Given the description of an element on the screen output the (x, y) to click on. 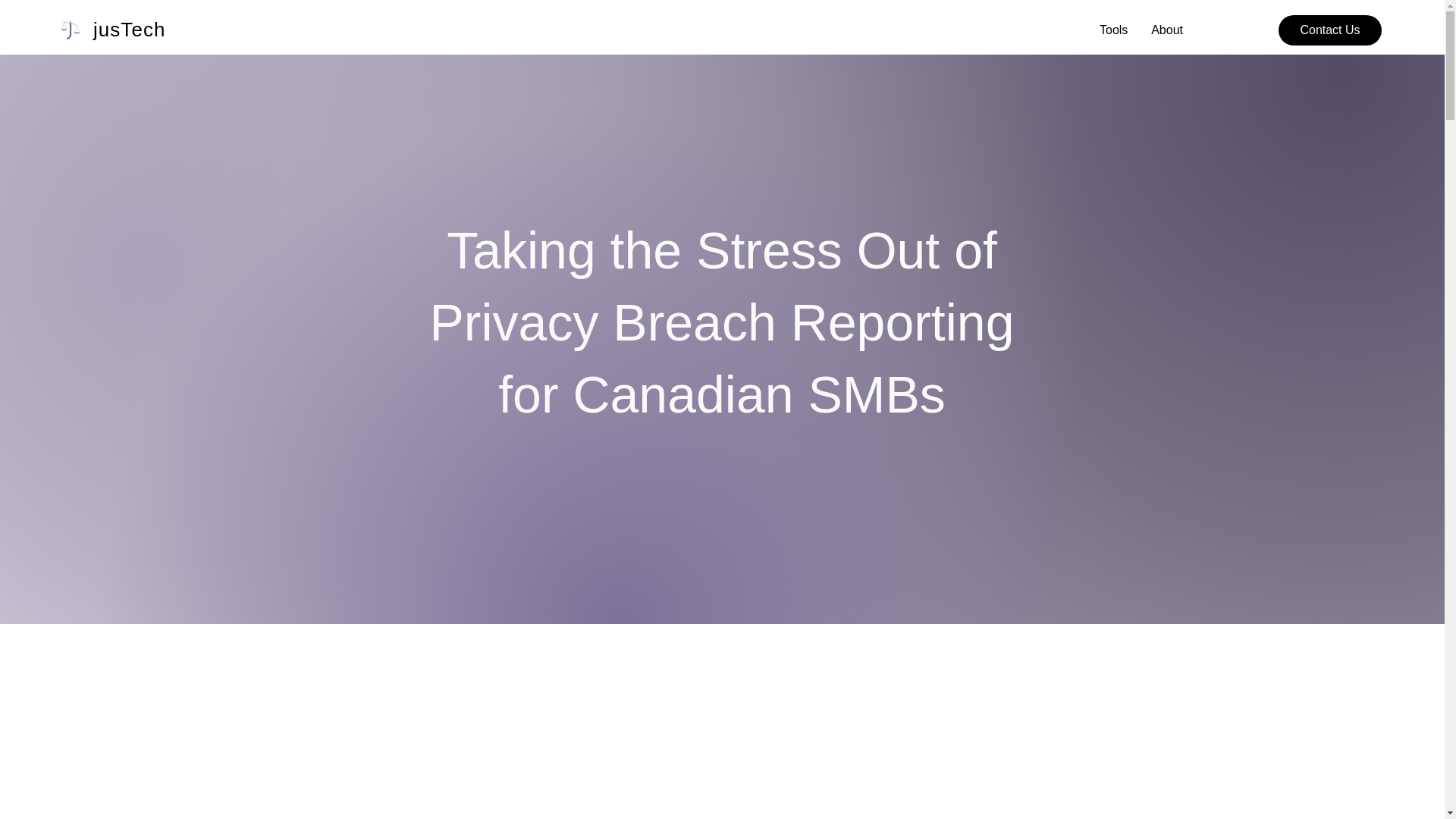
Tools (1112, 30)
Contact Us (1329, 30)
jusTech (129, 29)
About (1165, 30)
